Given the description of an element on the screen output the (x, y) to click on. 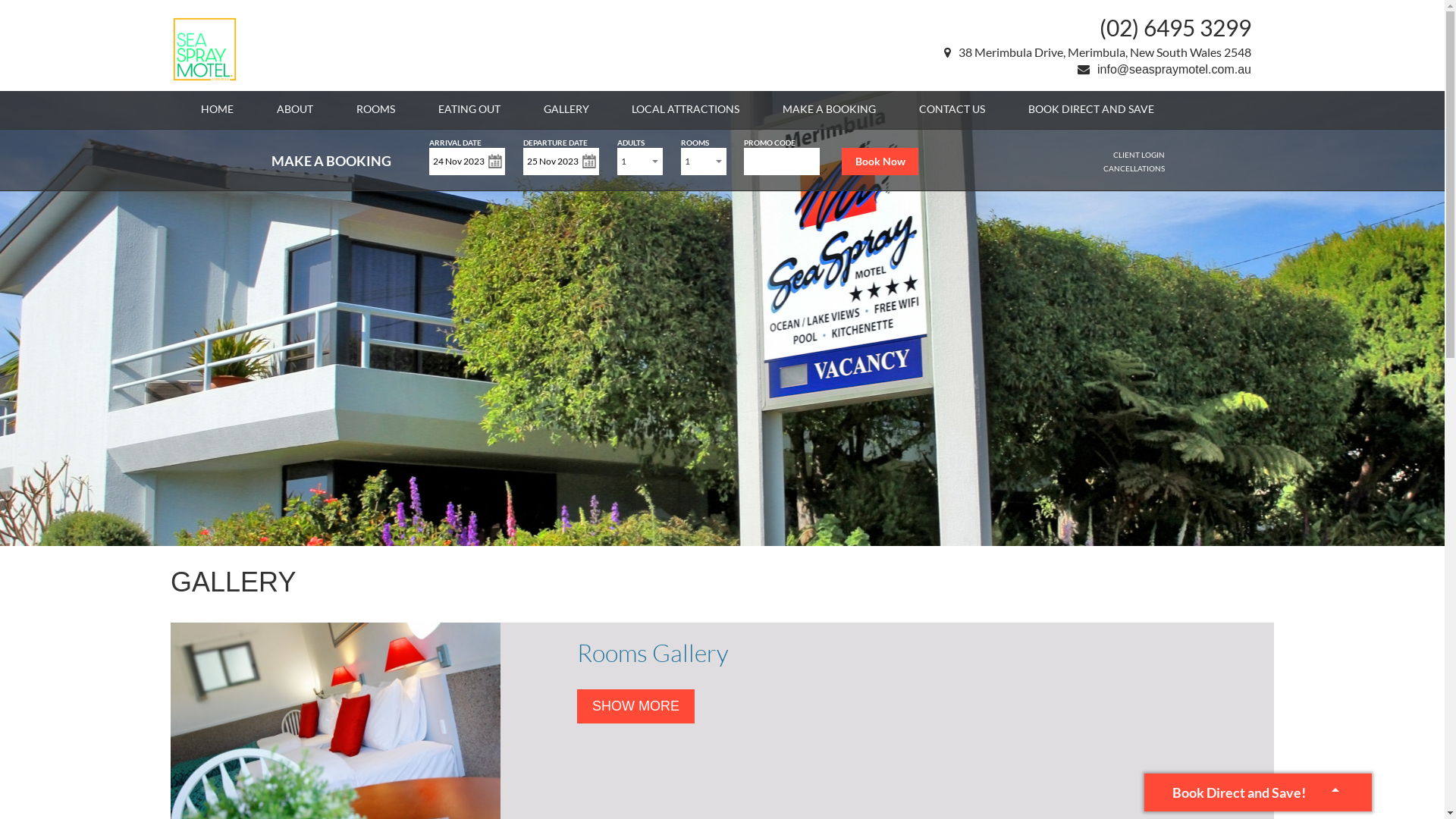
CANCELLATIONS Element type: text (1133, 167)
LOCAL ATTRACTIONS Element type: text (685, 109)
CLIENT LOGIN Element type: text (1138, 154)
CONTACT US Element type: text (952, 109)
MAKE A BOOKING Element type: text (828, 109)
Book Now Element type: text (879, 161)
GALLERY Element type: text (566, 109)
ROOMS Element type: text (375, 109)
SHOW MORE Element type: text (635, 706)
info@seaspraymotel.com.au Element type: text (1164, 68)
ABOUT Element type: text (294, 109)
EATING OUT Element type: text (469, 109)
HOME Element type: text (216, 109)
Rooms Gallery Element type: text (652, 652)
(02) 6495 3299 Element type: text (1175, 26)
BOOK DIRECT AND SAVE Element type: text (1091, 109)
38 Merimbula Drive, Merimbula, New South Wales 2548 Element type: text (1097, 51)
